Given the description of an element on the screen output the (x, y) to click on. 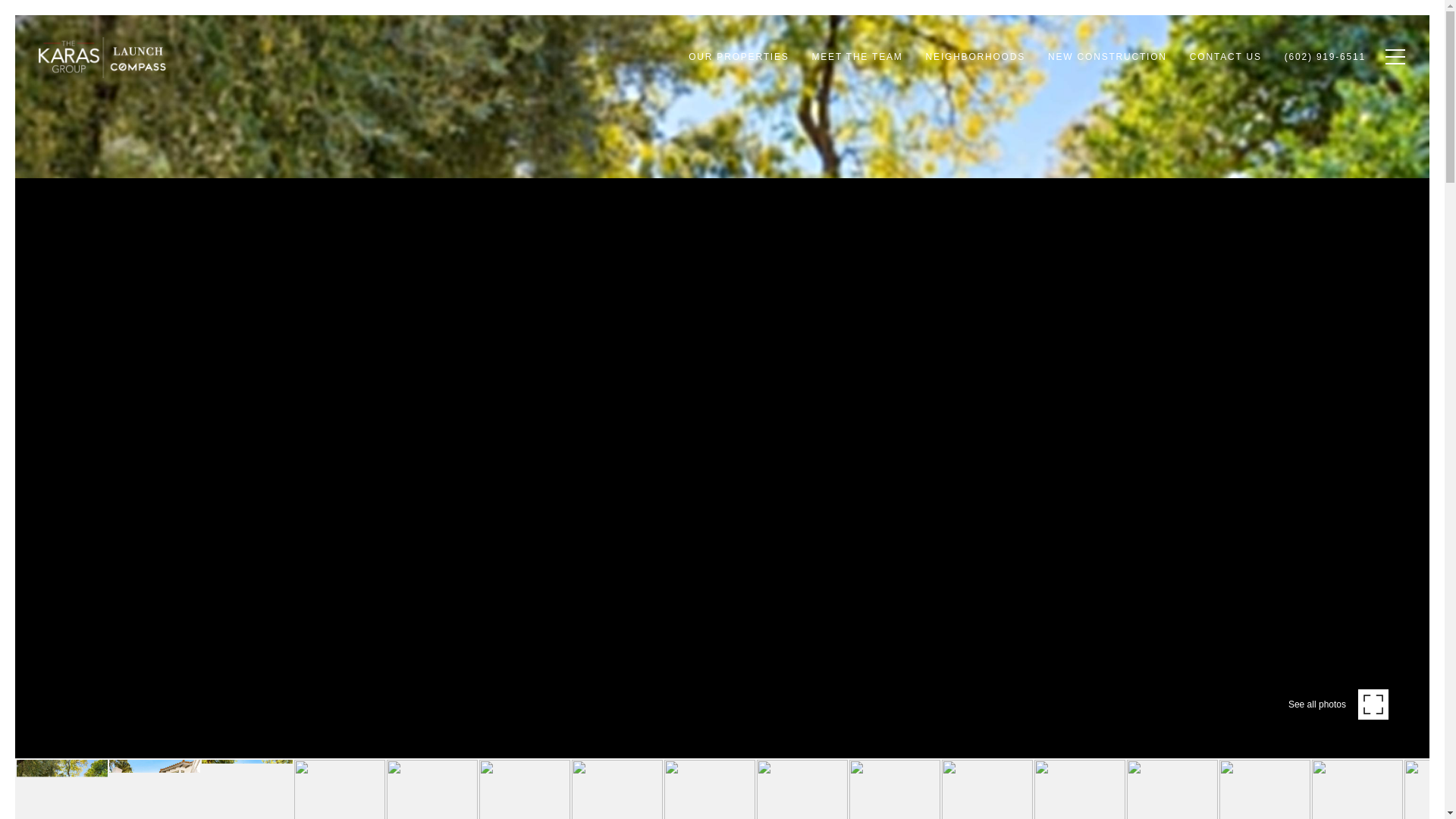
OUR PROPERTIES (738, 56)
CONTACT US (1224, 56)
NEIGHBORHOODS (975, 56)
NEW CONSTRUCTION (1106, 56)
MEET THE TEAM (857, 56)
Toggle navigation (1391, 56)
